Given the description of an element on the screen output the (x, y) to click on. 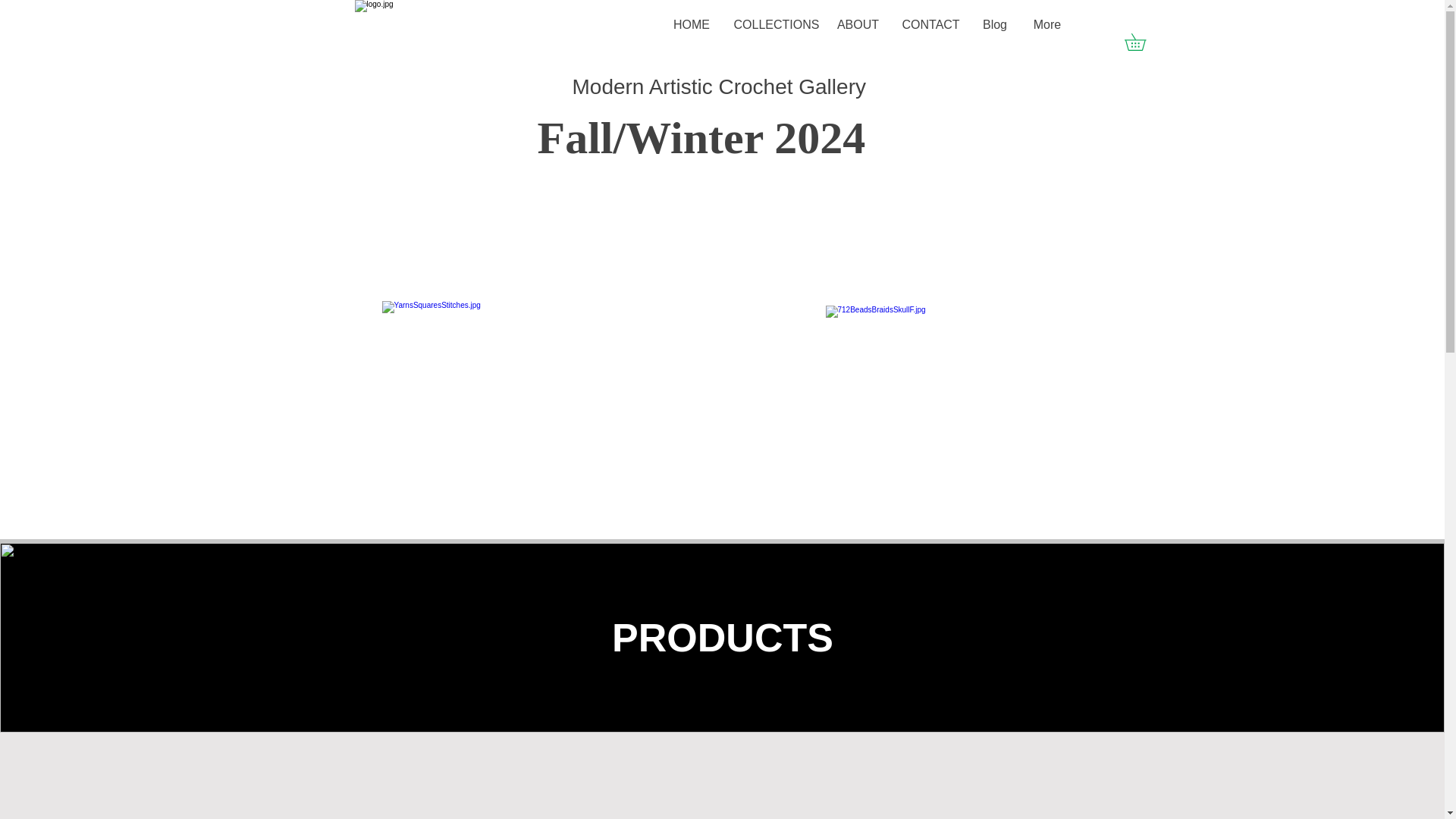
HOME (691, 24)
CONTACT (929, 24)
COLLECTIONS (773, 24)
ABOUT (857, 24)
Pailetted Loose Loops R.jpg (937, 417)
Blog (994, 24)
